Given the description of an element on the screen output the (x, y) to click on. 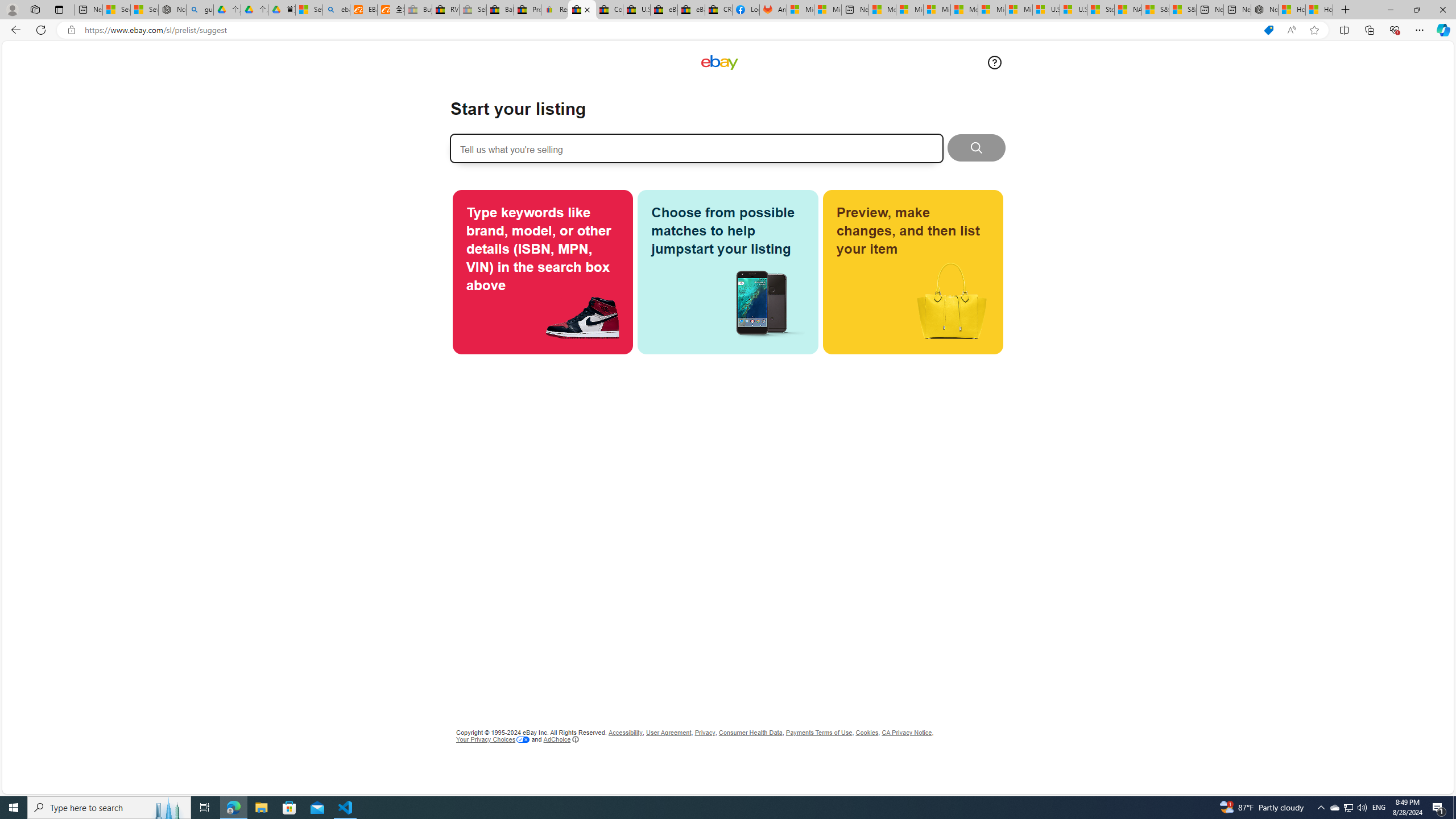
S&P 500, Nasdaq end lower, weighed by Nvidia dip | Watch (1182, 9)
Microsoft account | Home (936, 9)
How to Use a Monitor With Your Closed Laptop (1319, 9)
U.S. State Privacy Disclosures - eBay Inc. (636, 9)
Buy Auto Parts & Accessories | eBay - Sleeping (418, 9)
Your Privacy Choices (492, 739)
eBay Home (719, 62)
